Given the description of an element on the screen output the (x, y) to click on. 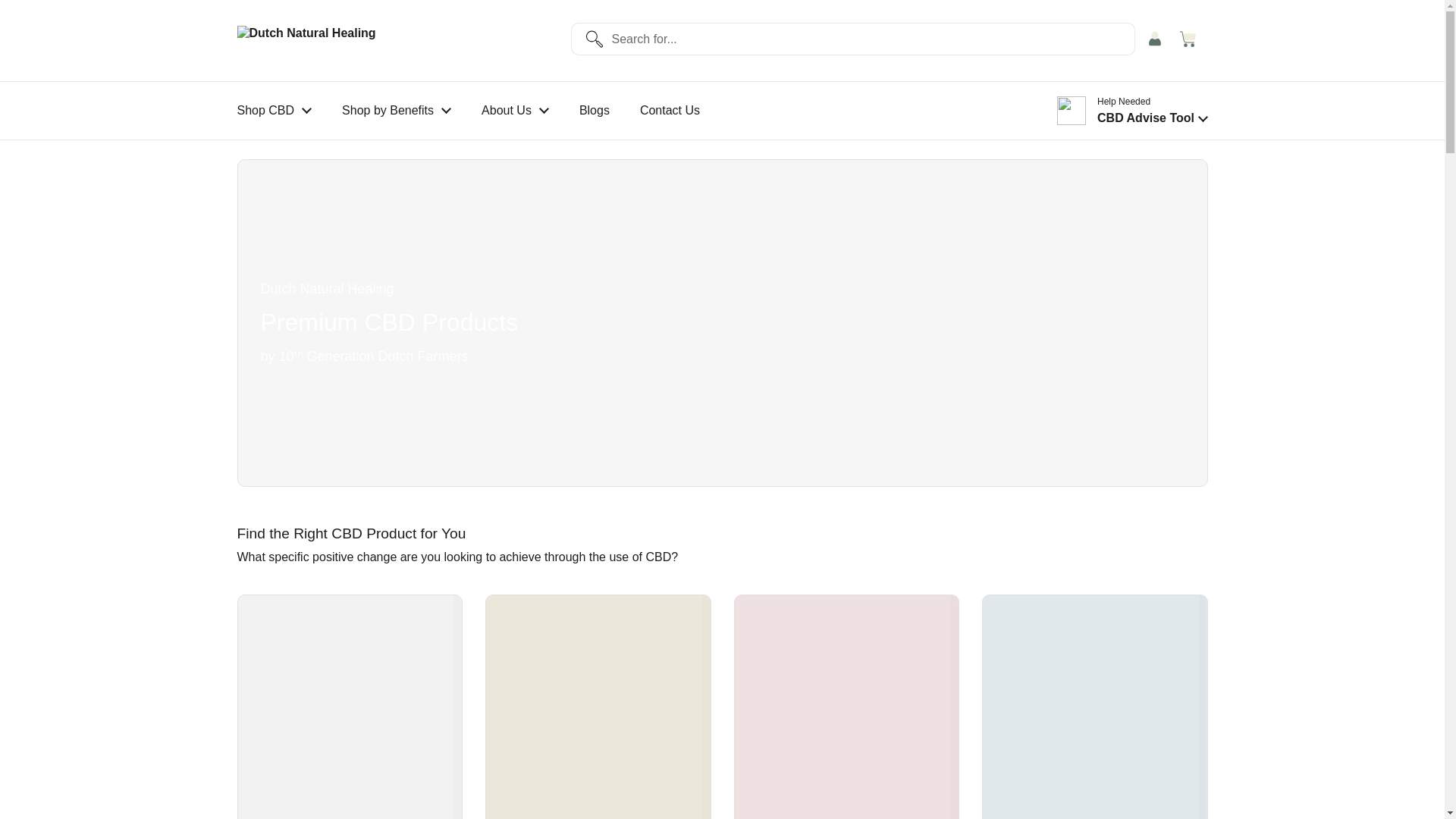
Shop by Benefits (395, 110)
Open cart (1190, 40)
Shop CBD (273, 110)
Blogs (594, 110)
Open cart (1190, 40)
Contact Us (669, 110)
About Us (514, 110)
Dutch Natural Healing (359, 40)
Shop CBD (273, 110)
